Given the description of an element on the screen output the (x, y) to click on. 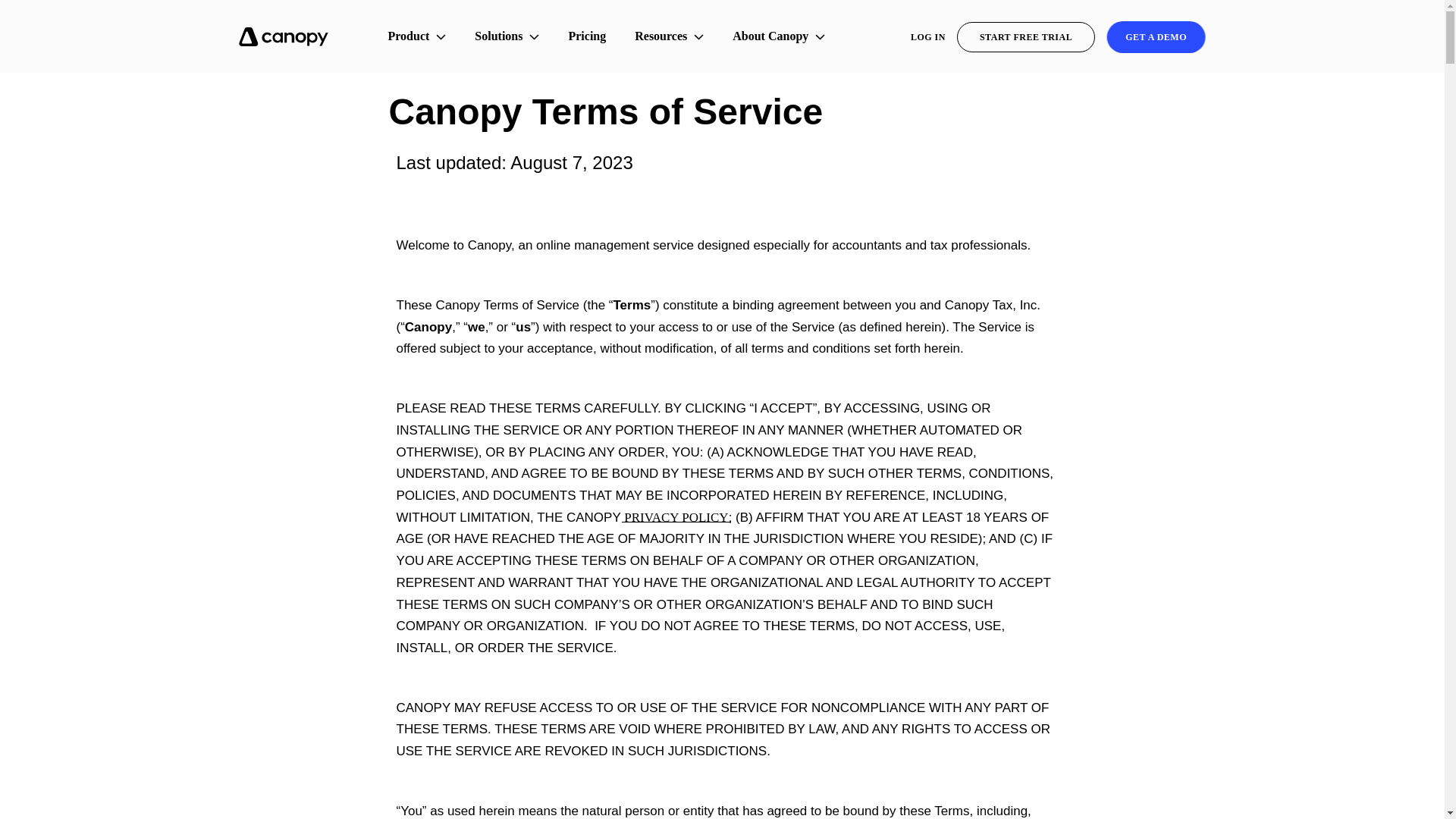
Solutions (506, 35)
Resources (669, 35)
Product (416, 35)
About Canopy (778, 35)
Pricing (586, 35)
